Given the description of an element on the screen output the (x, y) to click on. 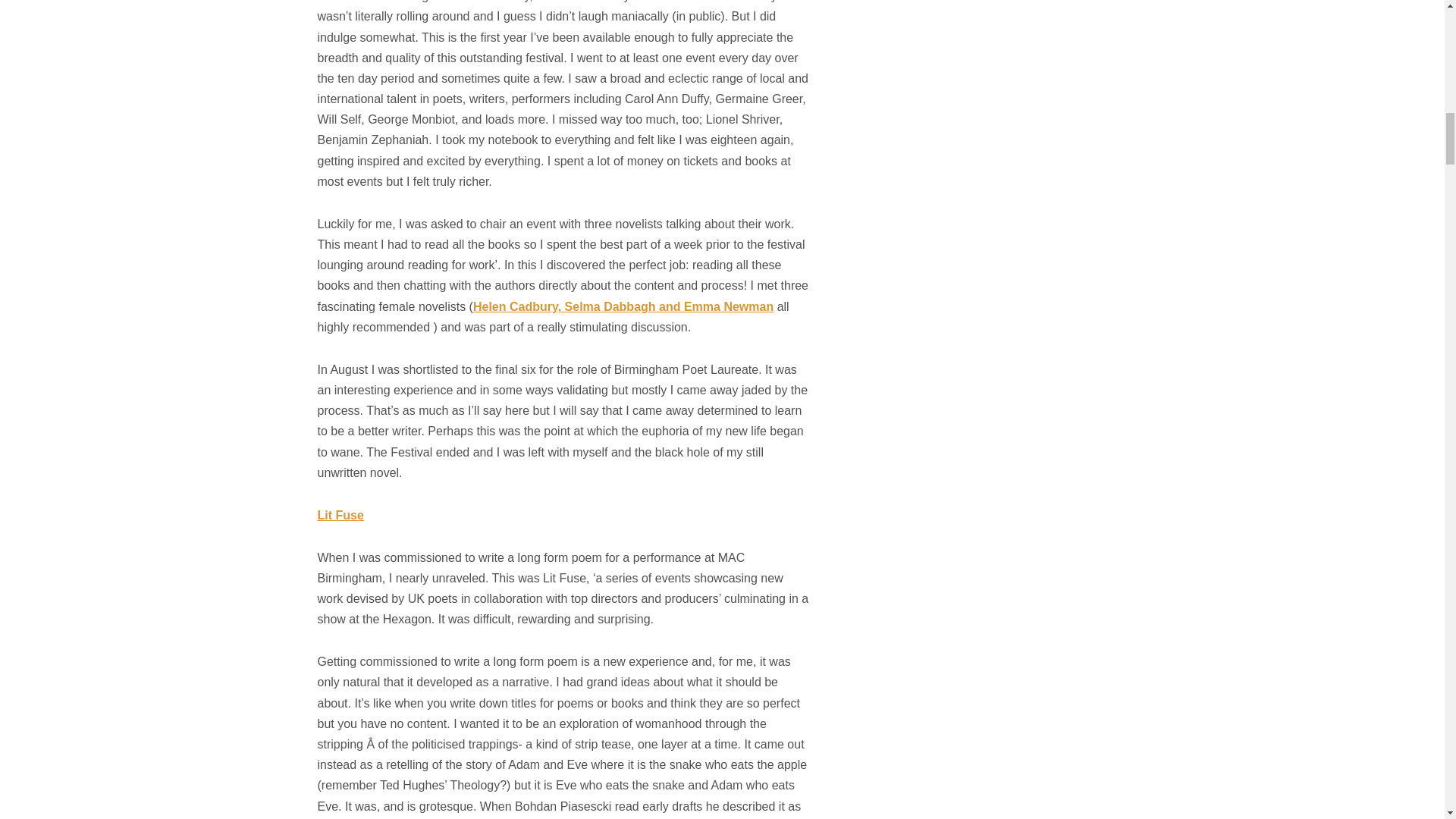
Lit Fuse (339, 514)
Helen Cadbury, Selma Dabbagh and Emma Newman (623, 306)
